Given the description of an element on the screen output the (x, y) to click on. 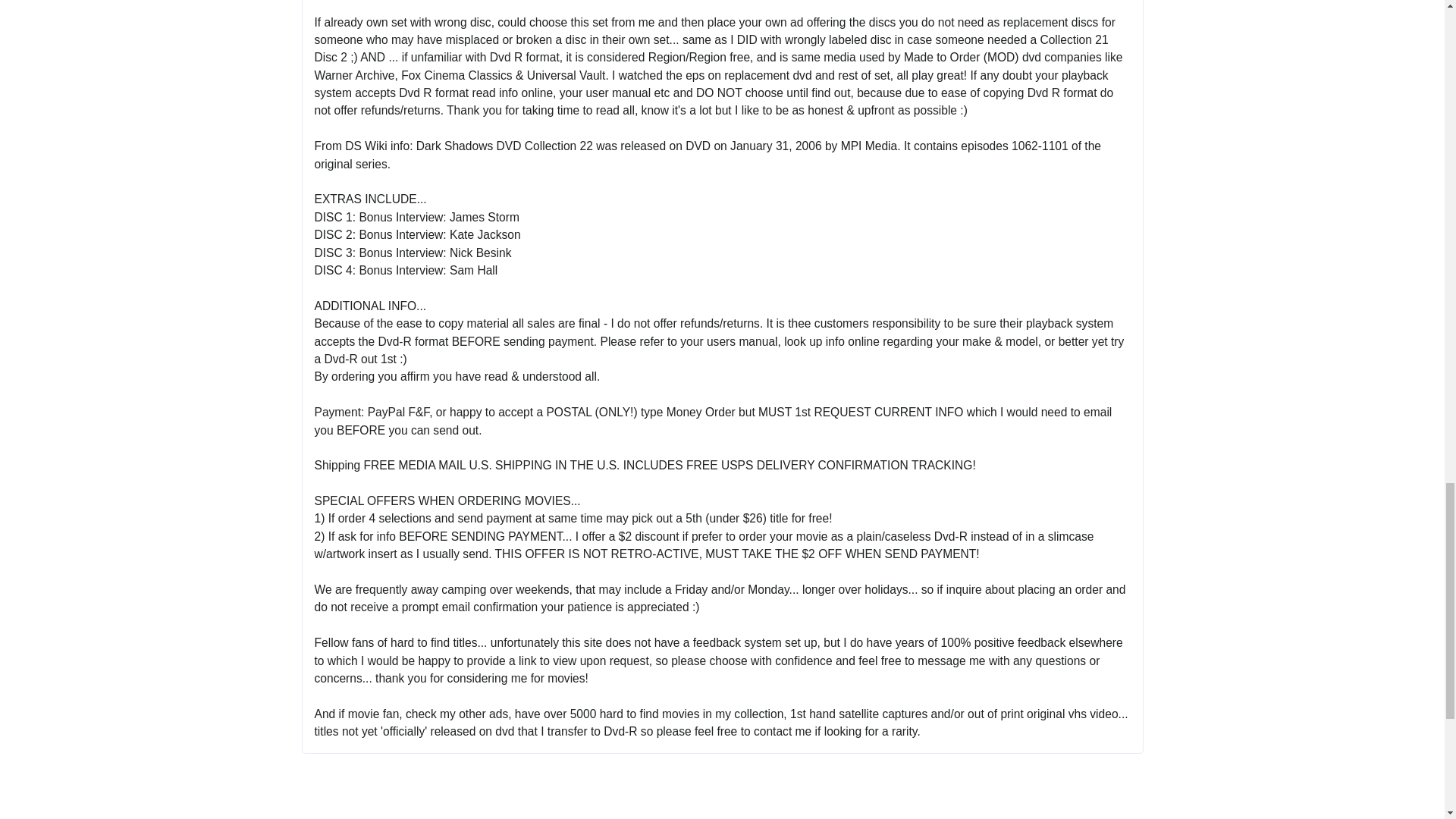
Advertisement (721, 807)
